Given the description of an element on the screen output the (x, y) to click on. 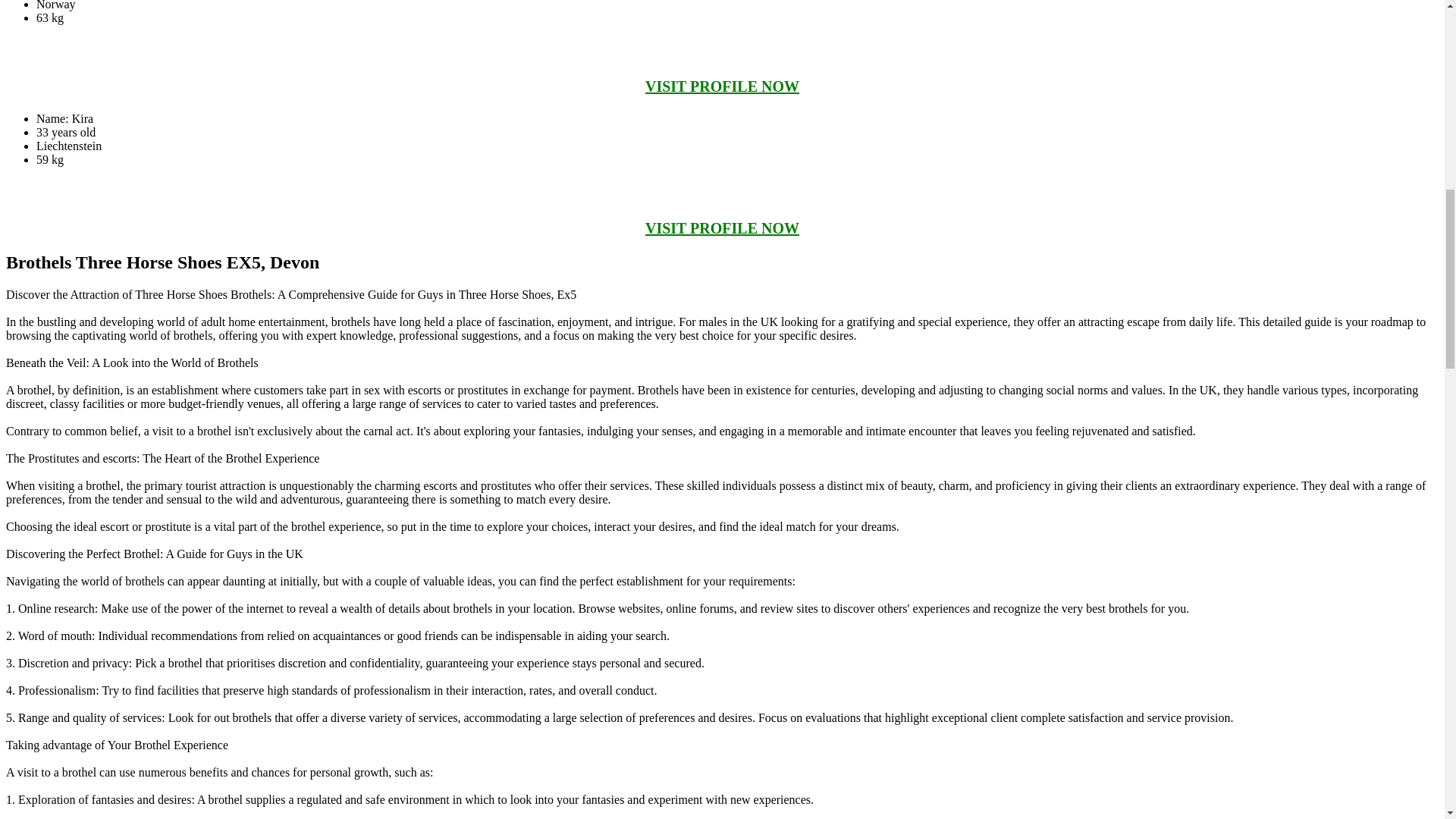
VISIT PROFILE NOW (722, 86)
VISIT PROFILE NOW (722, 228)
